Given the description of an element on the screen output the (x, y) to click on. 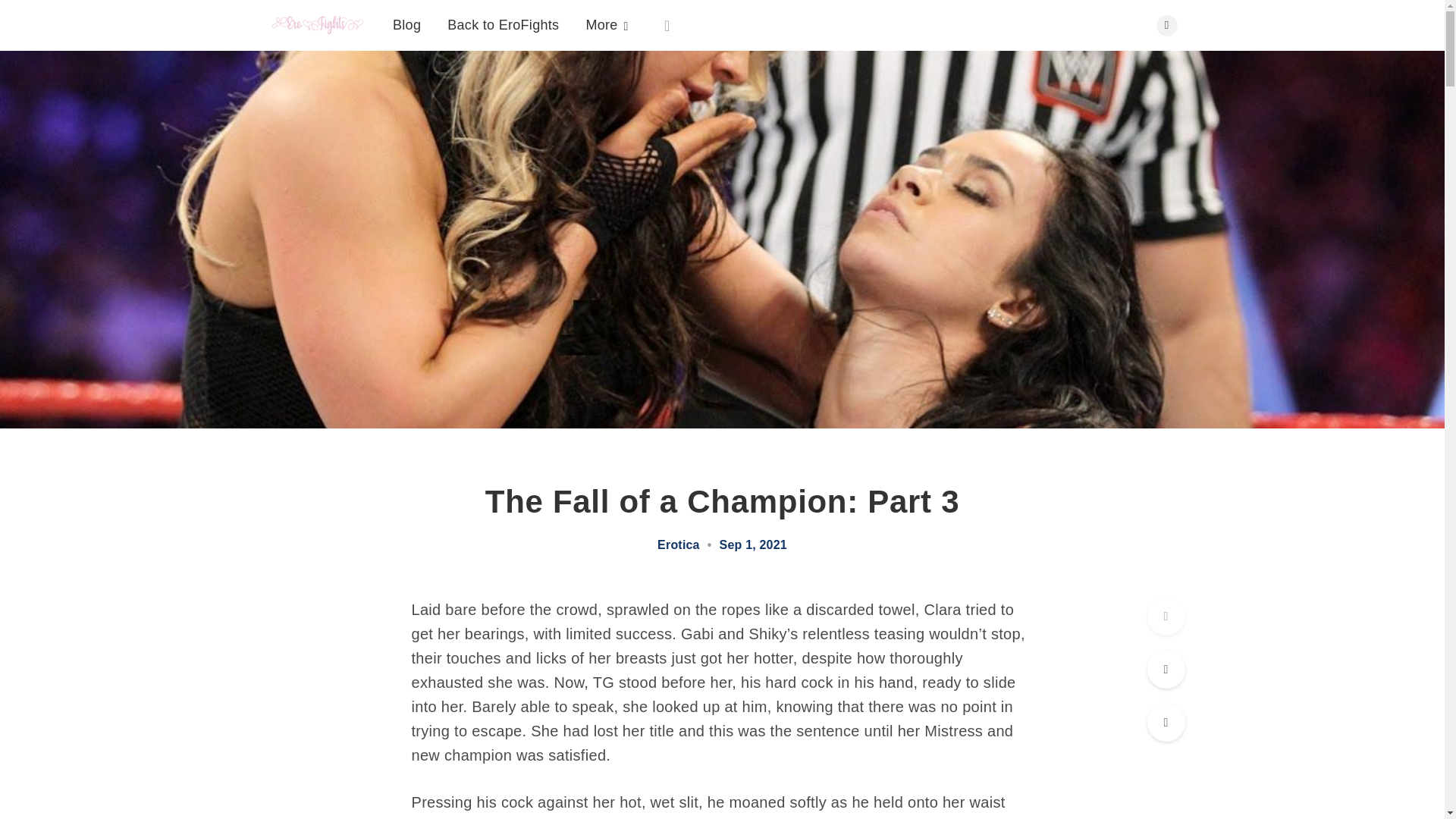
Erotica (679, 545)
Blog (406, 24)
Back to EroFights (502, 24)
More (606, 25)
